Given the description of an element on the screen output the (x, y) to click on. 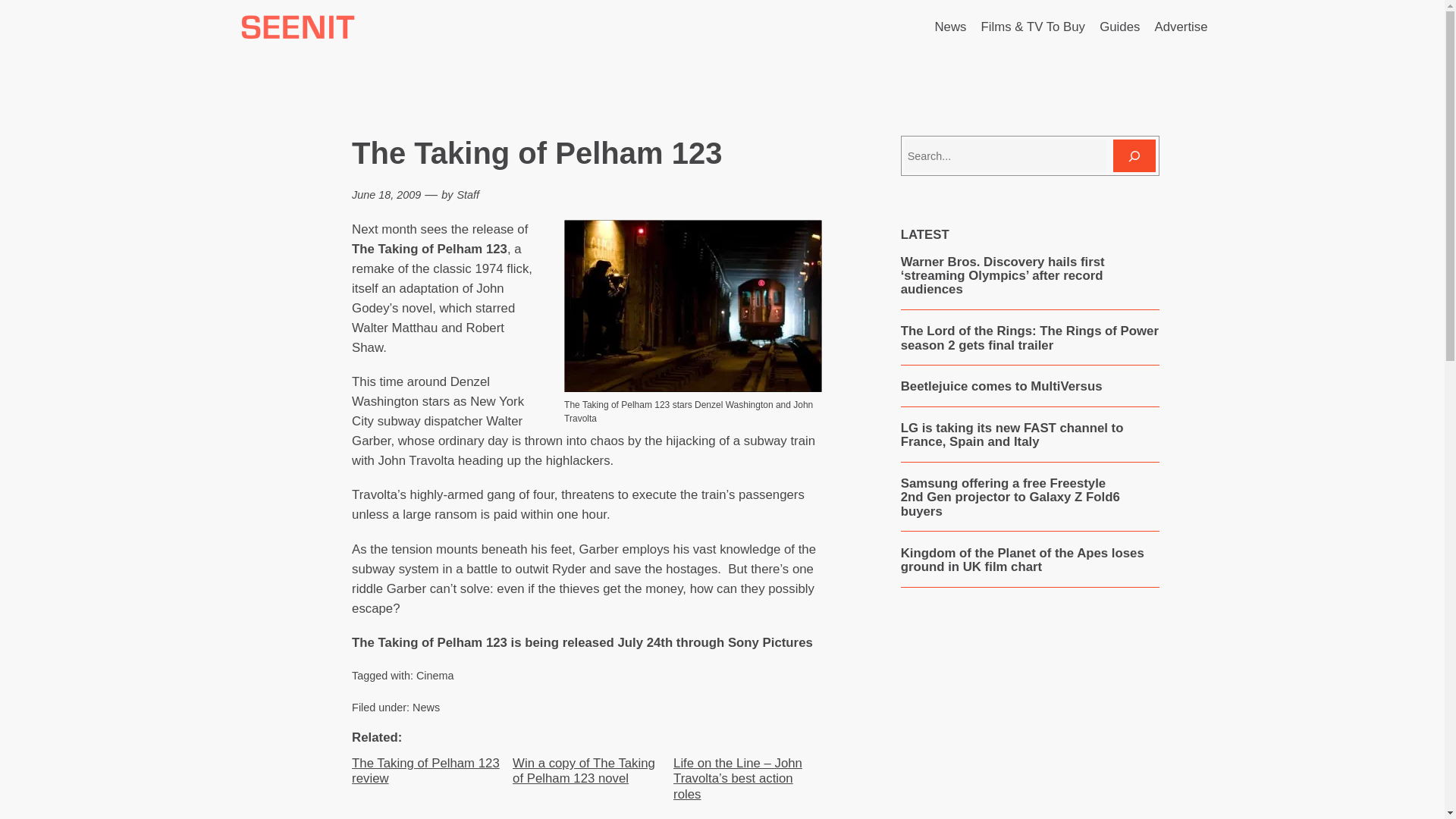
The Taking of Pelham 123 review (426, 770)
News (425, 707)
Advertisement (1028, 719)
Cinema (435, 675)
News (950, 26)
Advertise (1181, 26)
Beetlejuice comes to MultiVersus (1001, 386)
Staff (468, 194)
